Given the description of an element on the screen output the (x, y) to click on. 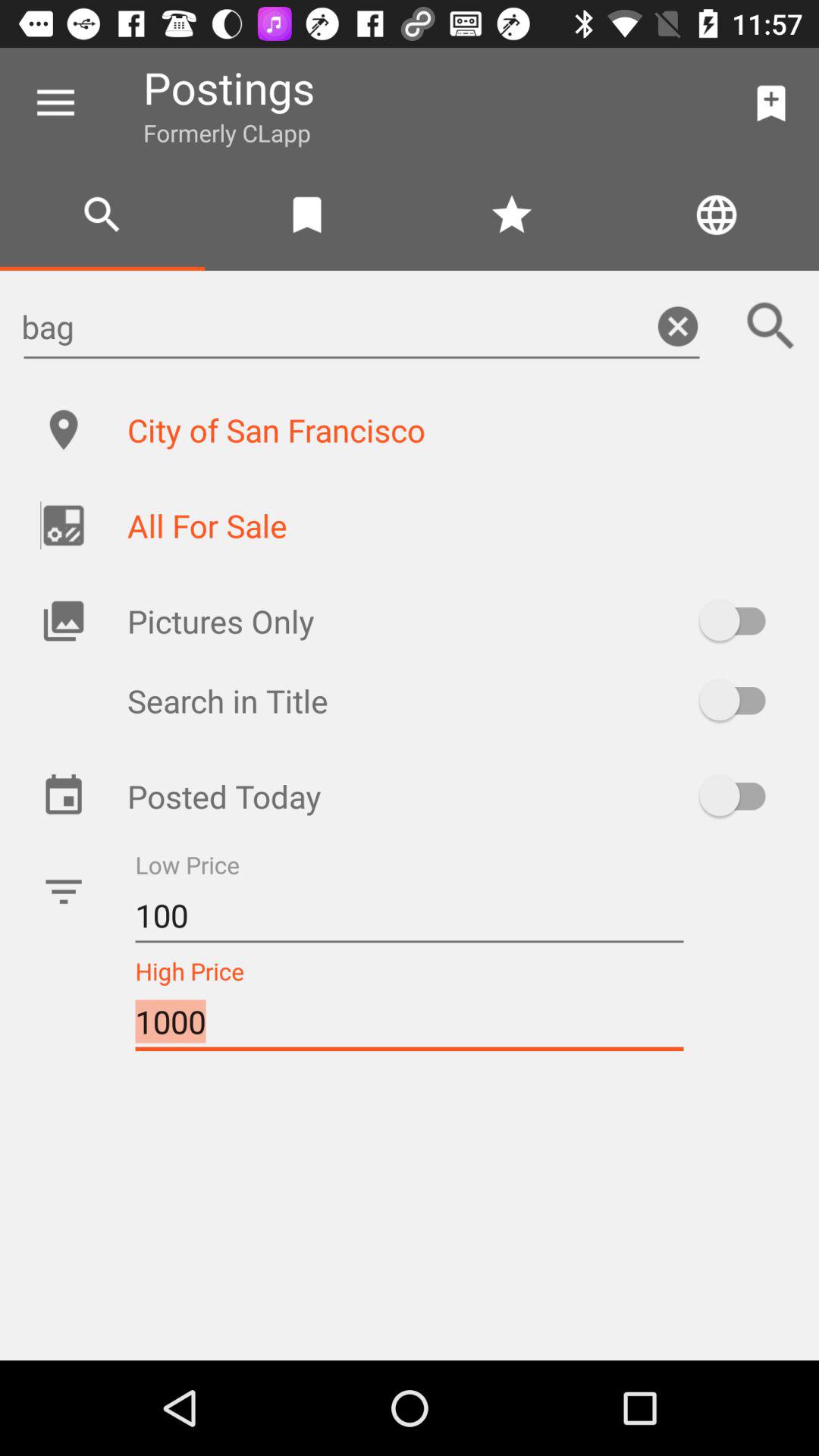
on/off option (739, 620)
